Given the description of an element on the screen output the (x, y) to click on. 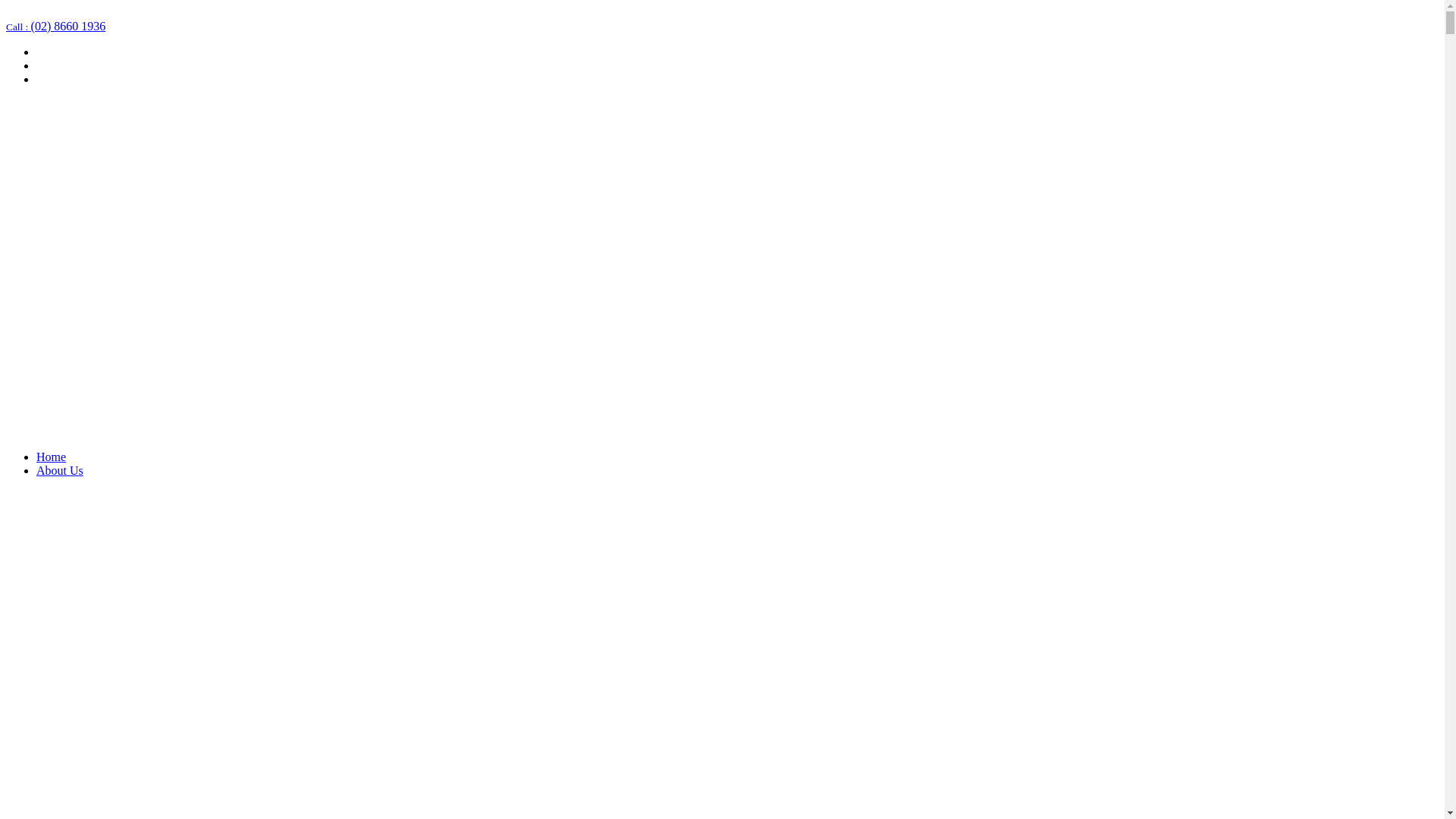
Home Element type: text (50, 456)
Call : (02) 8660 1936 Element type: text (55, 25)
1300 157 715 Element type: text (39, 12)
About Us Element type: text (59, 470)
